Given the description of an element on the screen output the (x, y) to click on. 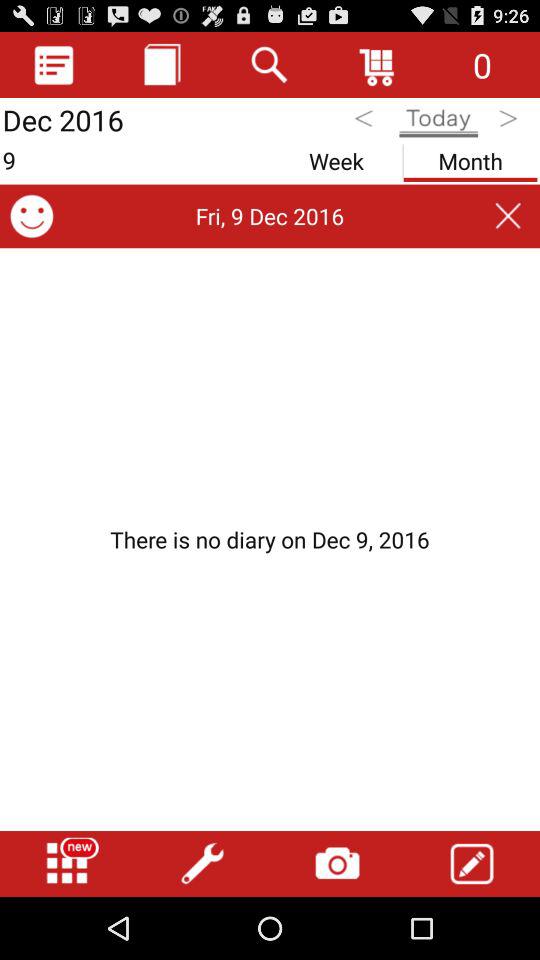
search functionality (270, 64)
